Given the description of an element on the screen output the (x, y) to click on. 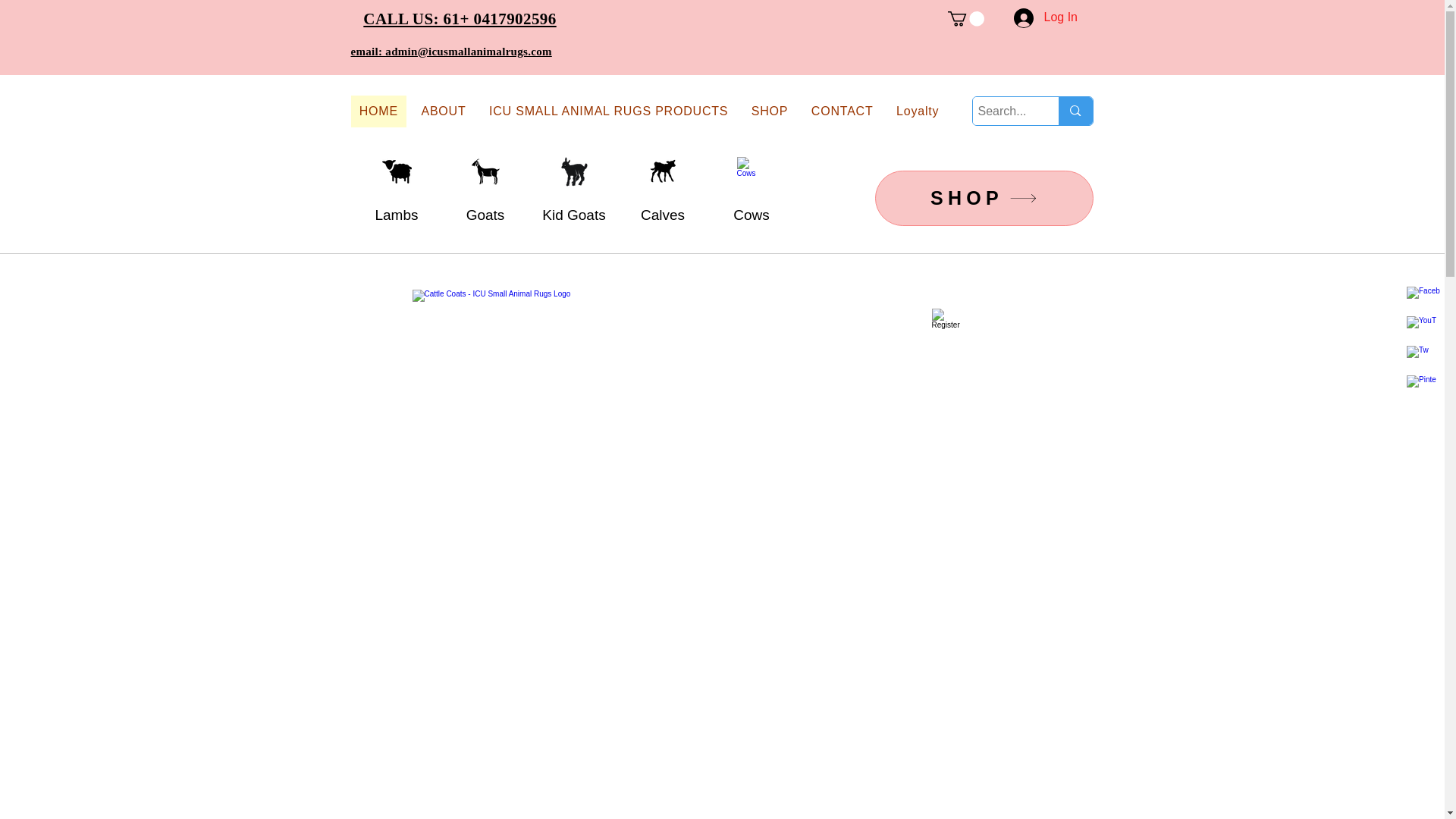
Cows (751, 171)
Goats (485, 214)
Lambs (395, 214)
SHOP (984, 198)
Calves (662, 214)
Goats (484, 171)
Kid goat (574, 171)
Kid Goats (573, 214)
